Given the description of an element on the screen output the (x, y) to click on. 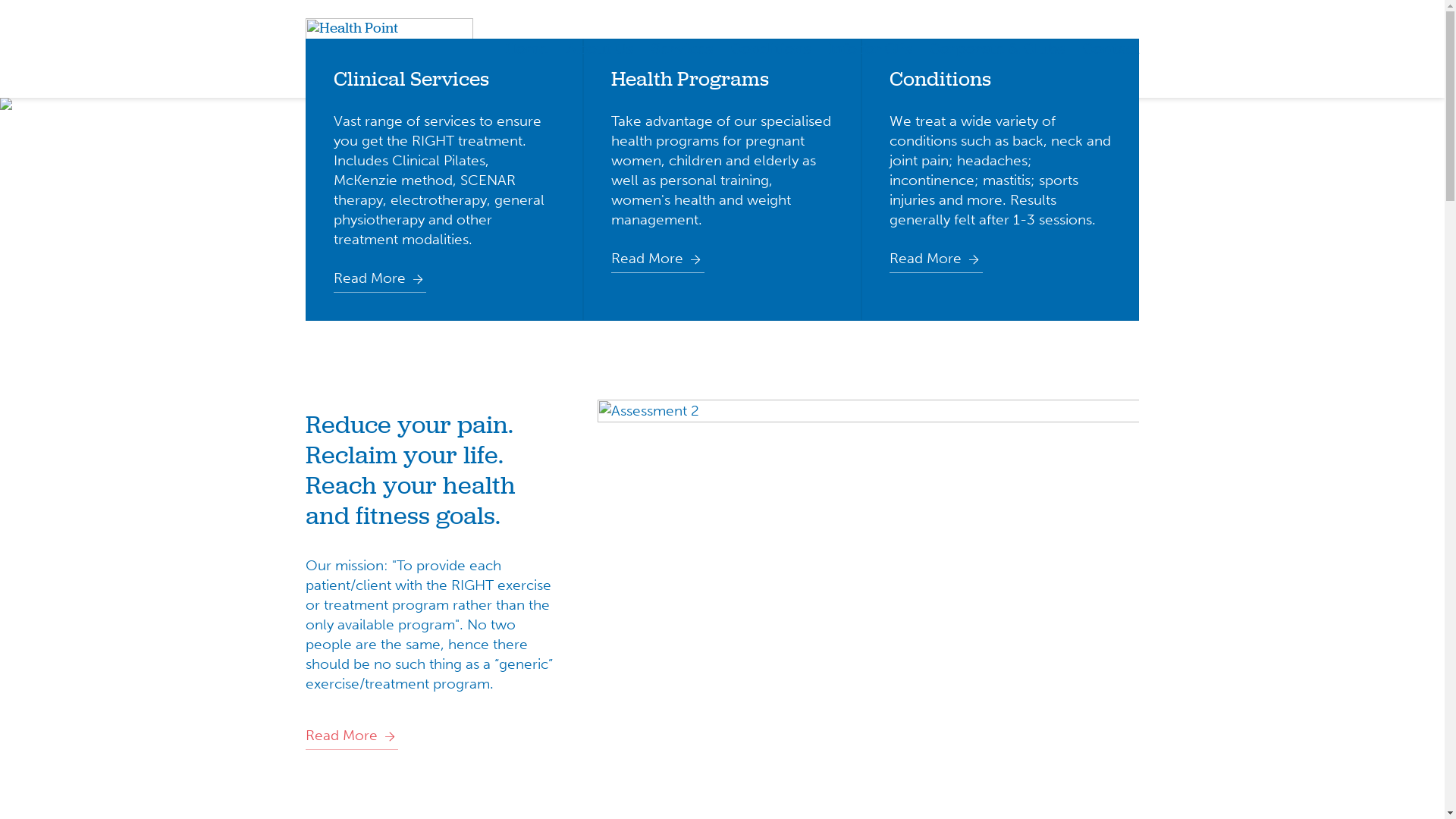
Read More Element type: text (935, 258)
Assessment 2 Element type: hover (868, 579)
Conditions Element type: text (770, 48)
About Us Element type: text (599, 48)
Read More Element type: text (351, 735)
Home Element type: text (526, 48)
Contact Element type: text (1110, 48)
Info for GPs Element type: text (869, 48)
hp-slide-1 1 Element type: hover (722, 107)
Read More Element type: text (657, 258)
Services Element type: text (681, 48)
Corporate & Clubs Element type: text (996, 48)
Health Point Physiotherapy Brighton Element type: hover (388, 48)
Read More Element type: text (379, 277)
